Given the description of an element on the screen output the (x, y) to click on. 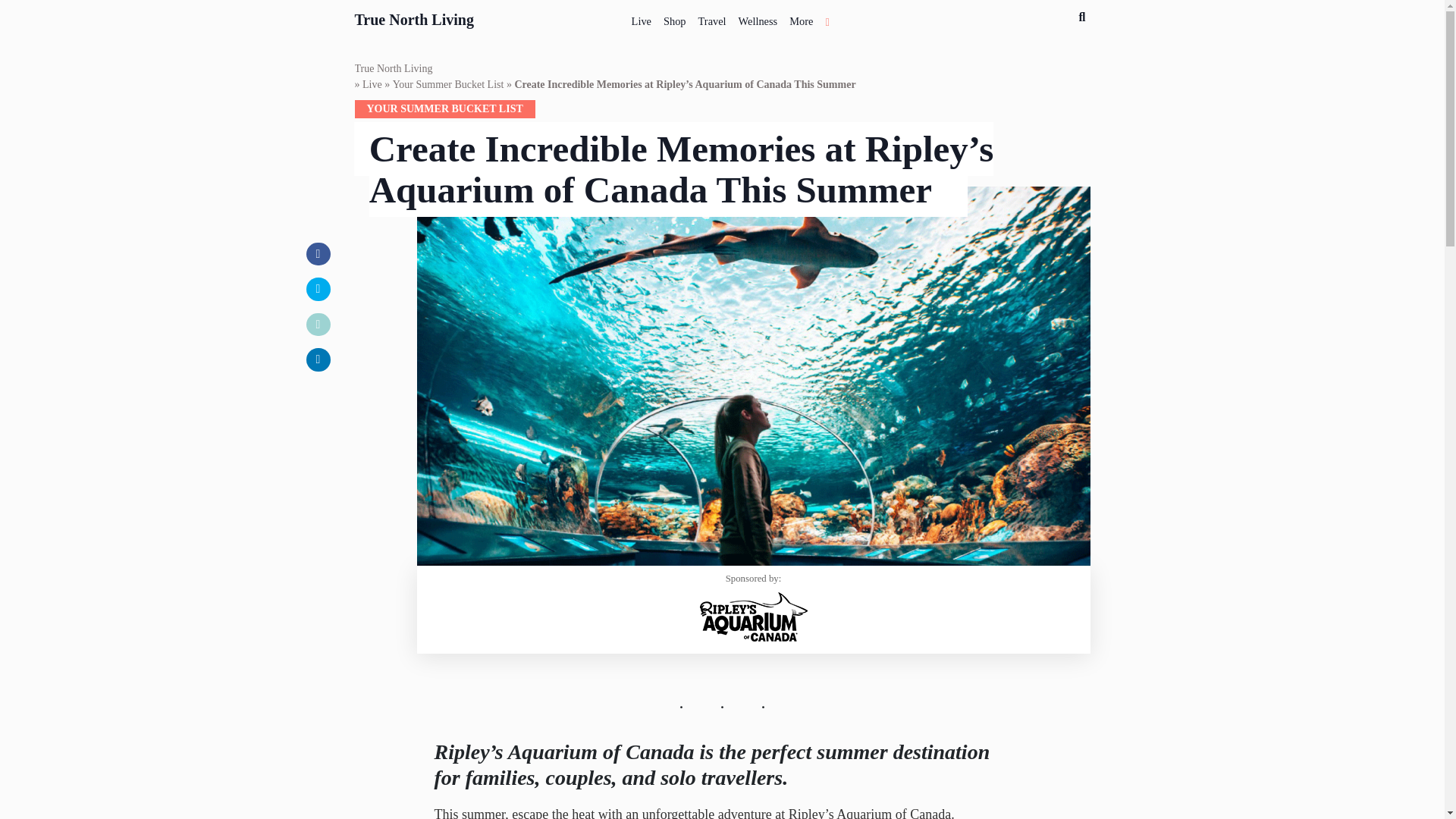
True North Living (414, 17)
Wellness (758, 18)
Shop (675, 18)
Travel (712, 18)
More (800, 18)
